Given the description of an element on the screen output the (x, y) to click on. 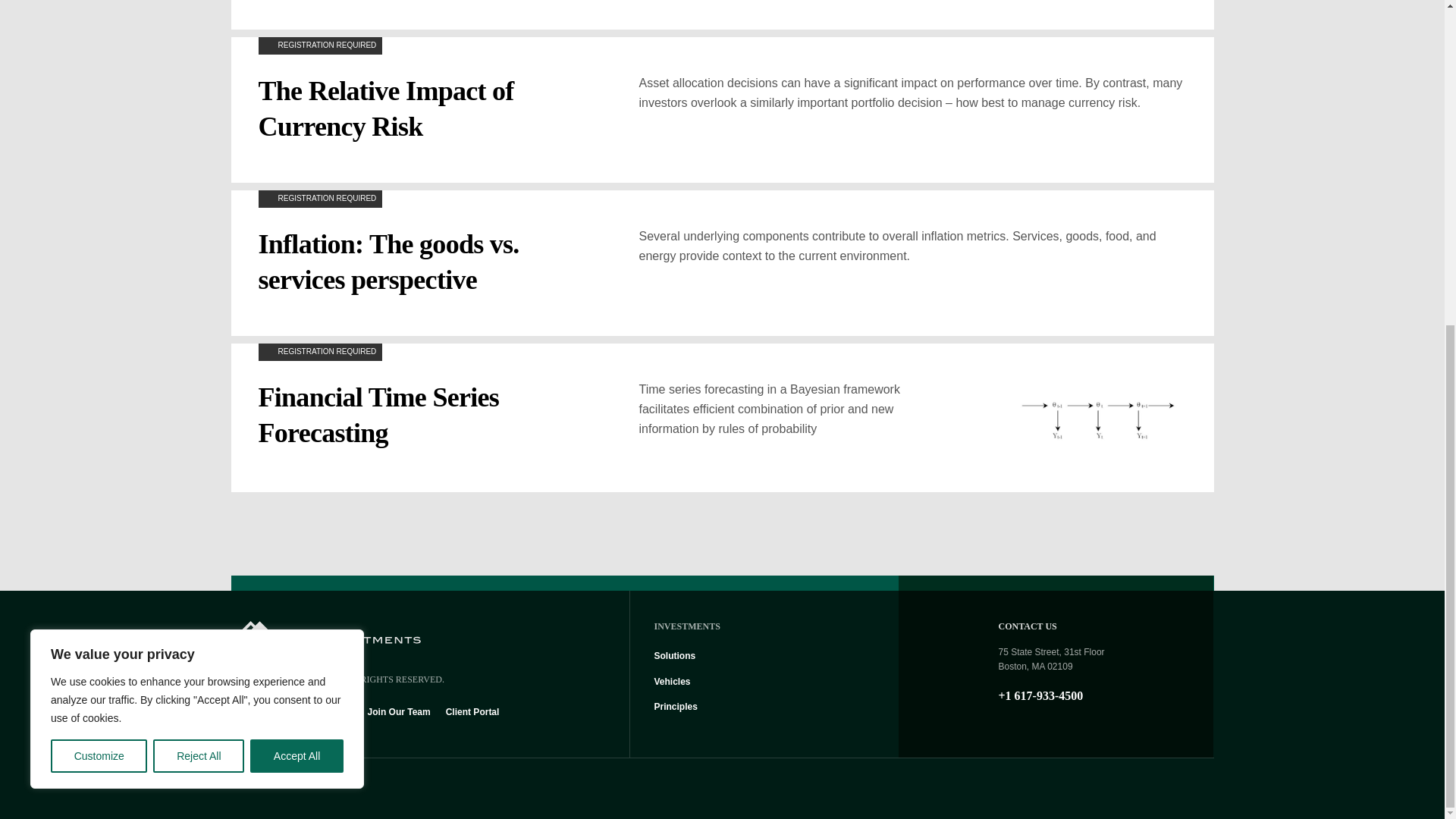
Customize (98, 222)
Reject All (198, 222)
Accept All (296, 222)
